Given the description of an element on the screen output the (x, y) to click on. 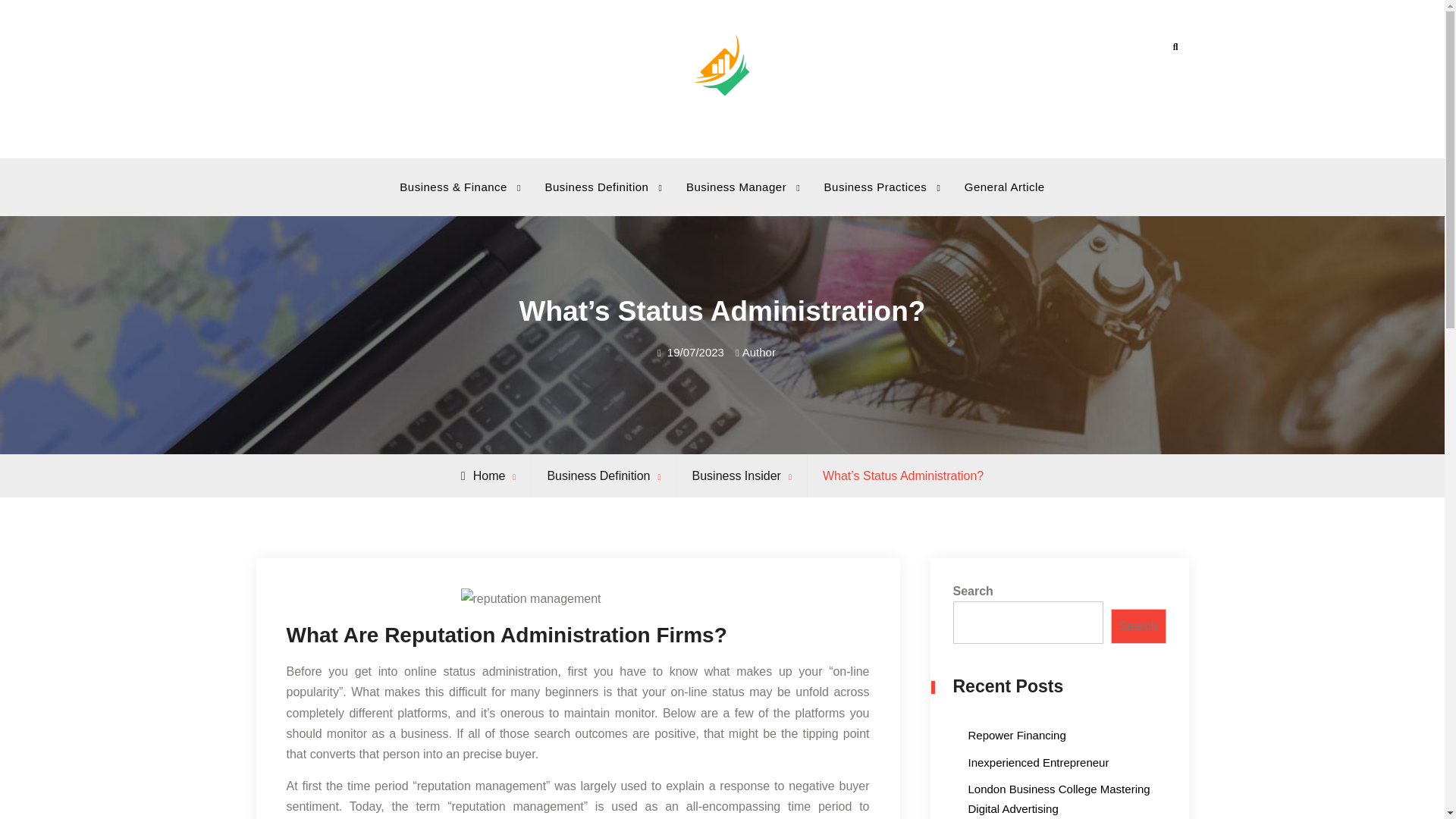
Business Practices (877, 186)
Business Manager (738, 186)
General Article (1004, 186)
Search (1174, 47)
allbusiness.top (777, 126)
Business Definition (597, 186)
